Given the description of an element on the screen output the (x, y) to click on. 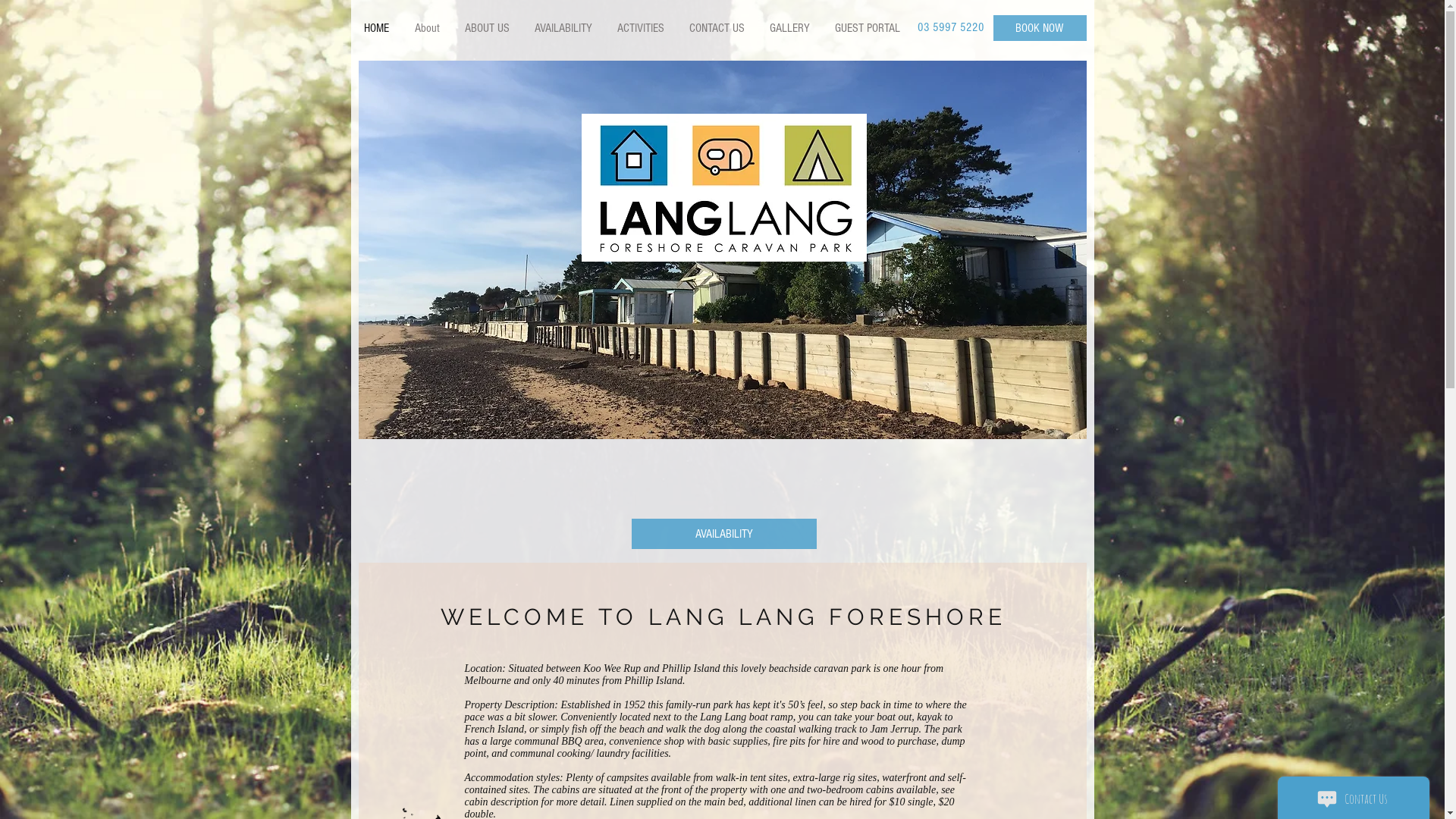
GALLERY Element type: text (789, 27)
ABOUT US Element type: text (486, 27)
AVAILABILITY Element type: text (562, 27)
BOOK NOW Element type: text (1039, 27)
CONTACT US Element type: text (716, 27)
About Element type: text (426, 27)
GUEST PORTAL Element type: text (867, 27)
AVAILABILITY Element type: text (722, 533)
HOME Element type: text (376, 27)
ACTIVITIES Element type: text (639, 27)
